Given the description of an element on the screen output the (x, y) to click on. 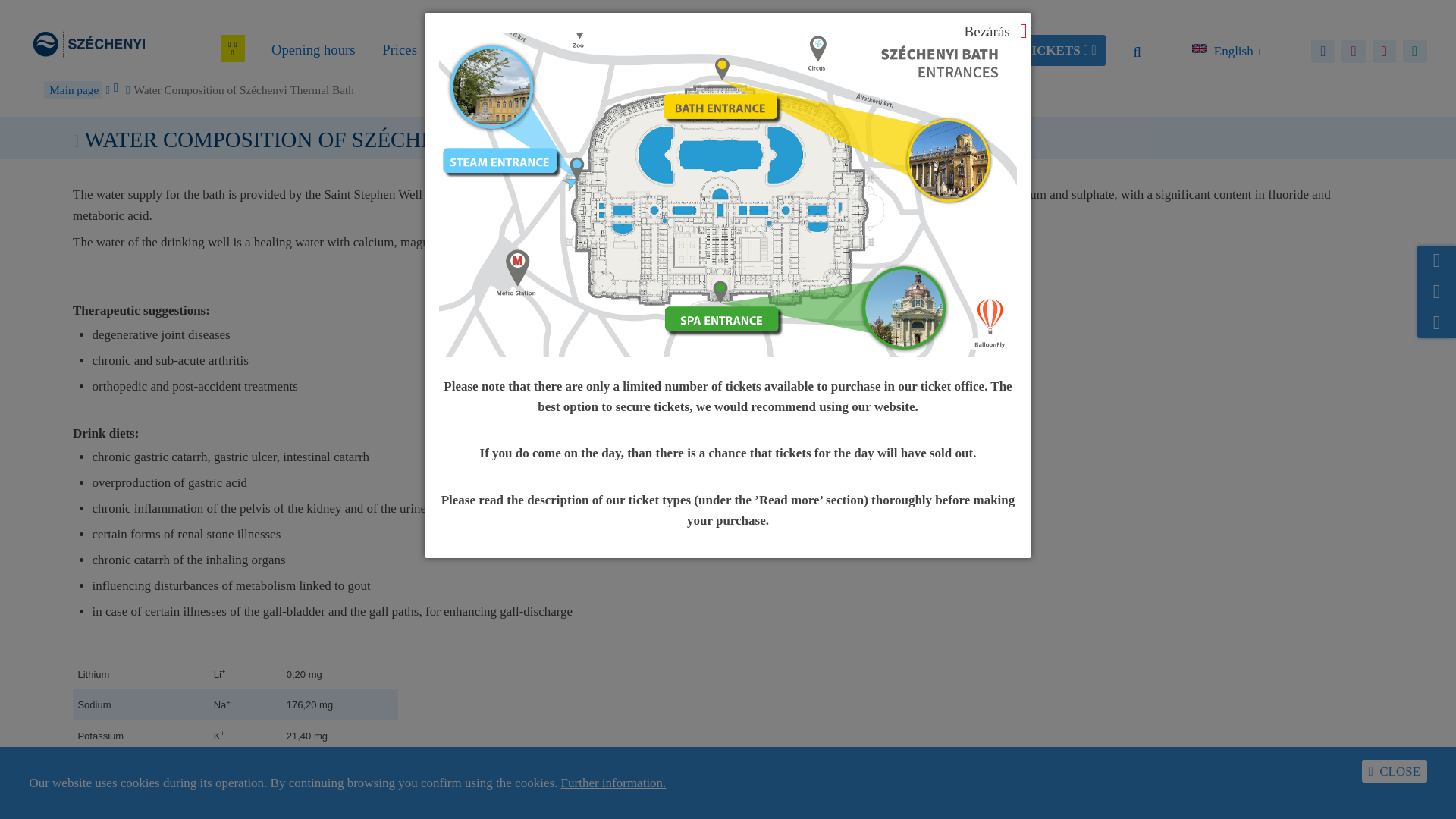
Facebook (1323, 51)
Main page (72, 90)
Opening hours (313, 52)
Prices (399, 52)
Youtube (1384, 51)
Instagram (1352, 51)
Tripadvisor (1414, 51)
English (1225, 50)
News (459, 52)
ONLINE TICKETS (1032, 50)
Contact (525, 52)
